Given the description of an element on the screen output the (x, y) to click on. 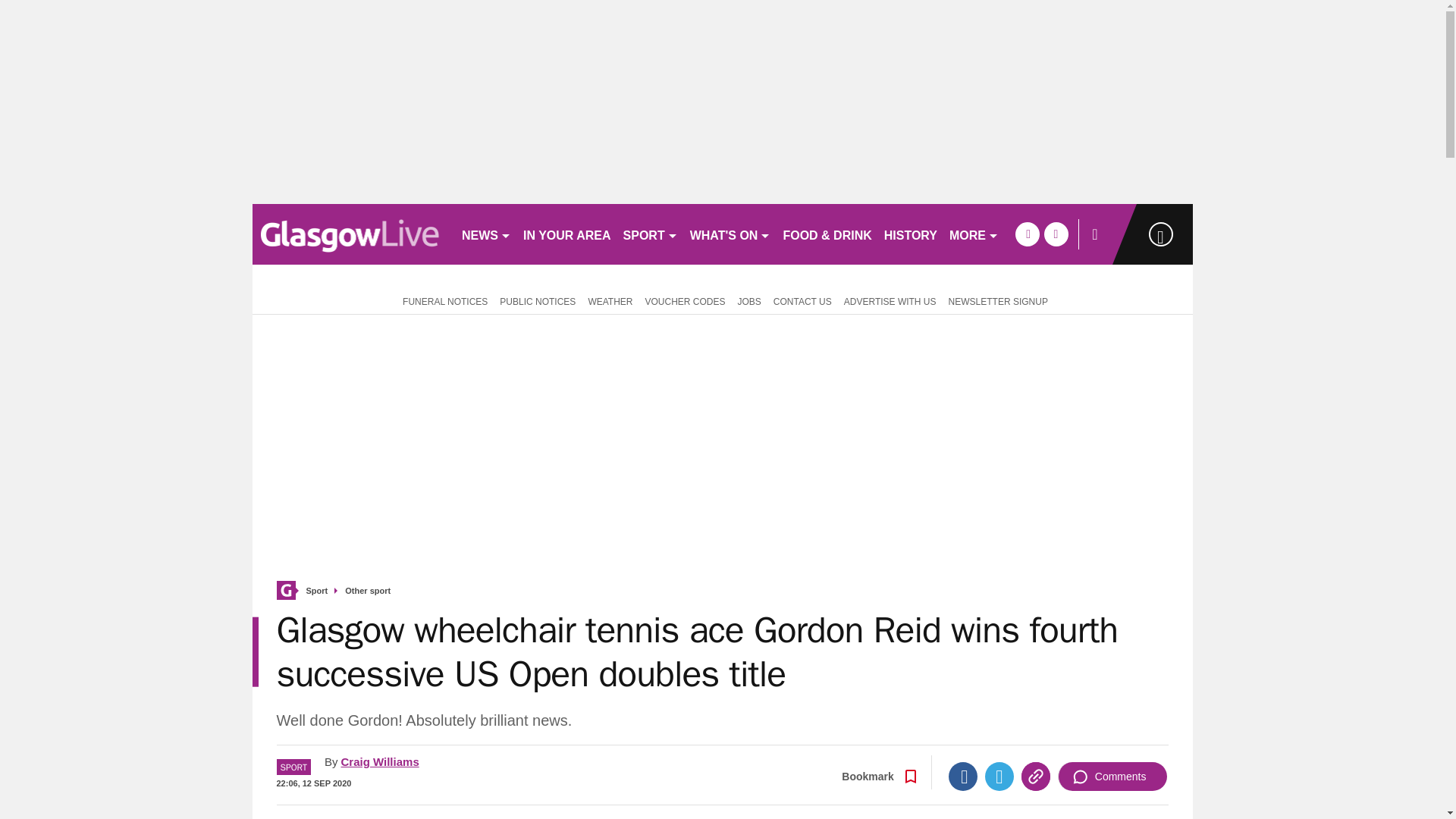
SPORT (650, 233)
IN YOUR AREA (566, 233)
WHAT'S ON (730, 233)
Facebook (962, 776)
NEWS (485, 233)
glasgowlive (349, 233)
MORE (973, 233)
facebook (1026, 233)
Comments (1112, 776)
twitter (1055, 233)
